Given the description of an element on the screen output the (x, y) to click on. 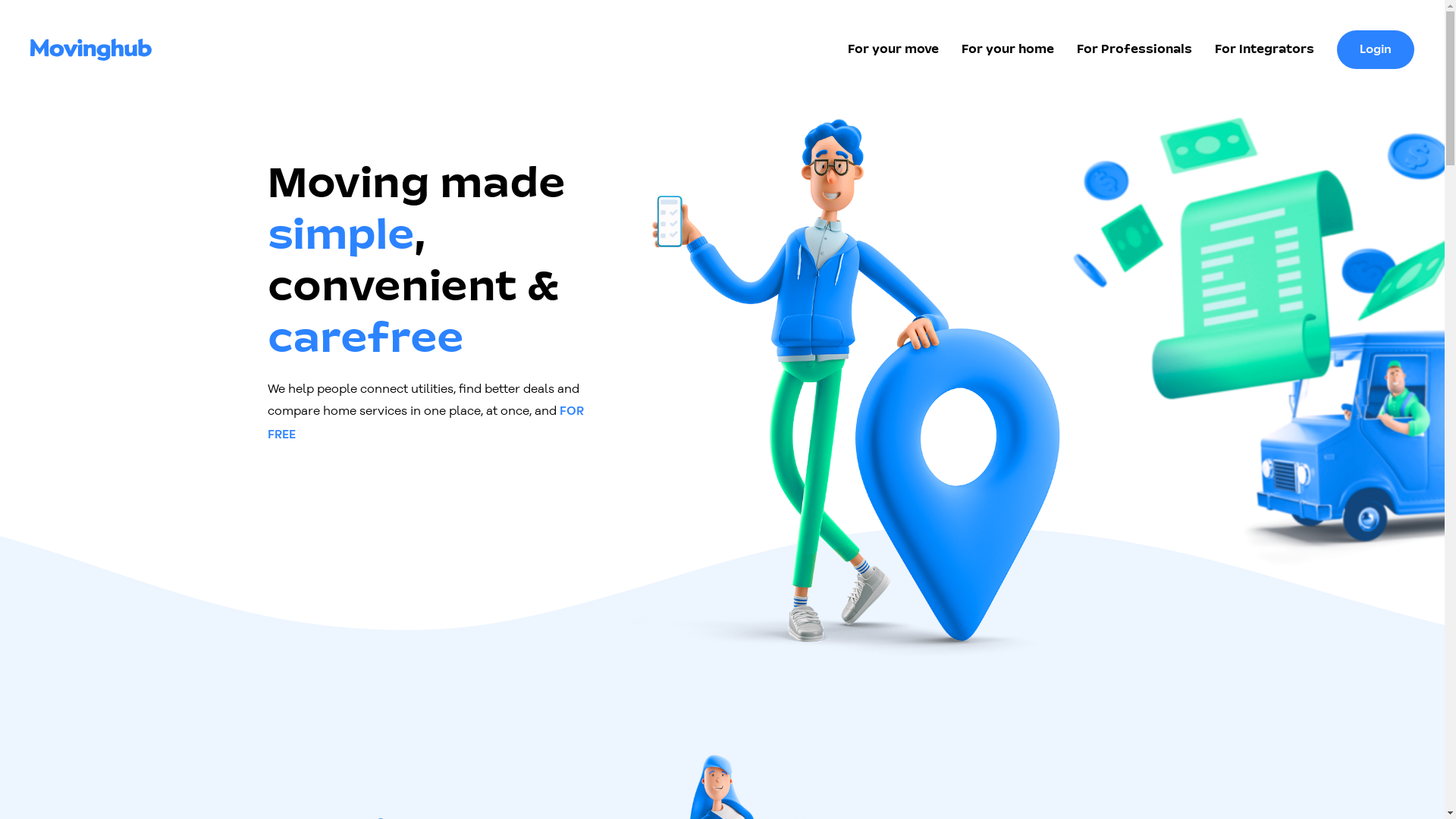
For Integrators Element type: text (1264, 49)
For your move Element type: text (892, 49)
For Professionals Element type: text (1134, 49)
Login Element type: text (1375, 49)
For your home Element type: text (1007, 49)
